Given the description of an element on the screen output the (x, y) to click on. 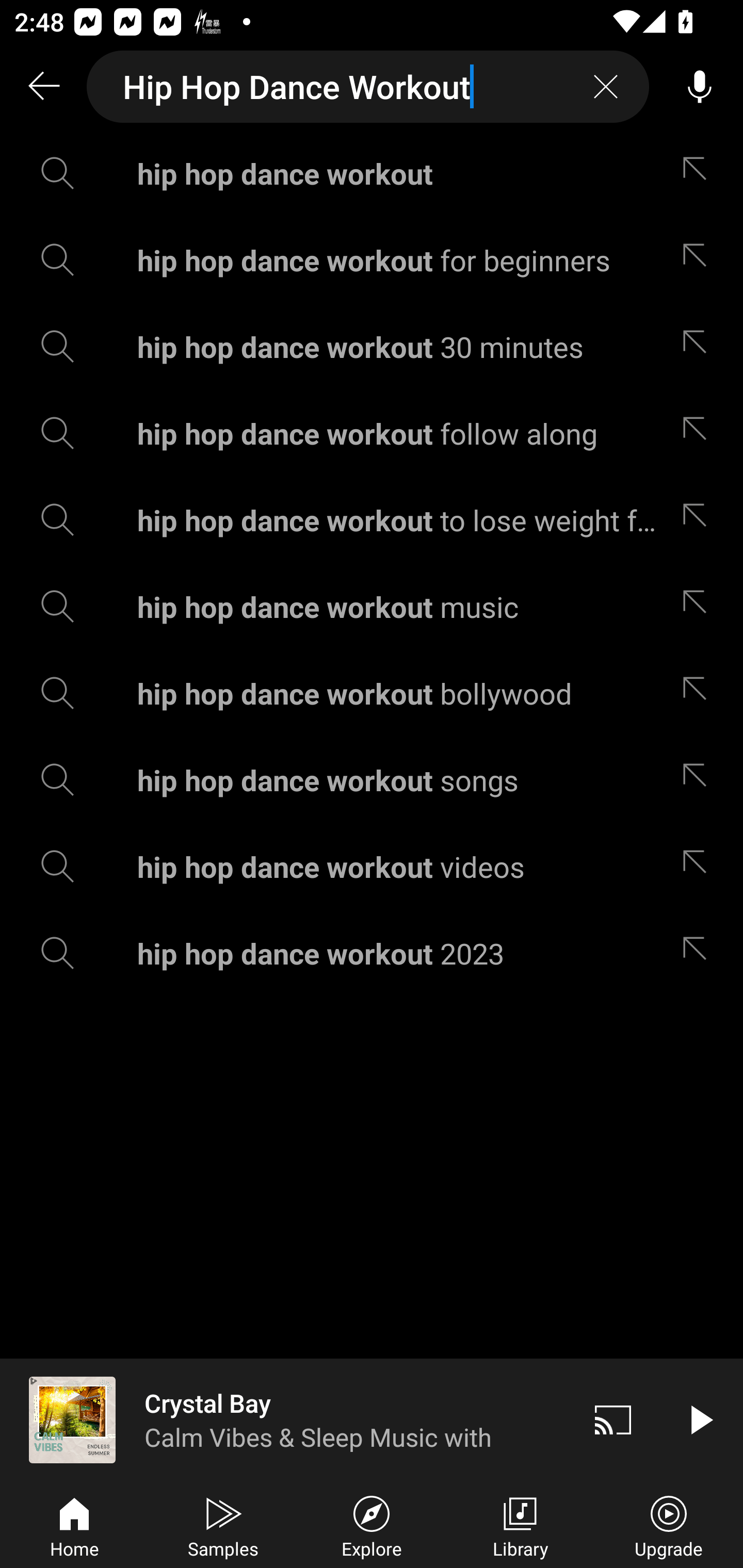
Search back (43, 86)
Hip Hop Dance Workout (367, 86)
Clear search (605, 86)
Voice search (699, 86)
Edit suggestion hip hop dance workout (699, 173)
Edit suggestion hip hop dance workout 30 minutes (699, 346)
Edit suggestion hip hop dance workout follow along (699, 433)
Edit suggestion hip hop dance workout music (699, 605)
Edit suggestion hip hop dance workout bollywood (699, 692)
Edit suggestion hip hop dance workout songs (699, 779)
Edit suggestion hip hop dance workout videos (699, 866)
Edit suggestion hip hop dance workout 2023 (699, 953)
Cast. Disconnected (612, 1419)
Play video (699, 1419)
Home (74, 1524)
Samples (222, 1524)
Explore (371, 1524)
Library (519, 1524)
Upgrade (668, 1524)
